Given the description of an element on the screen output the (x, y) to click on. 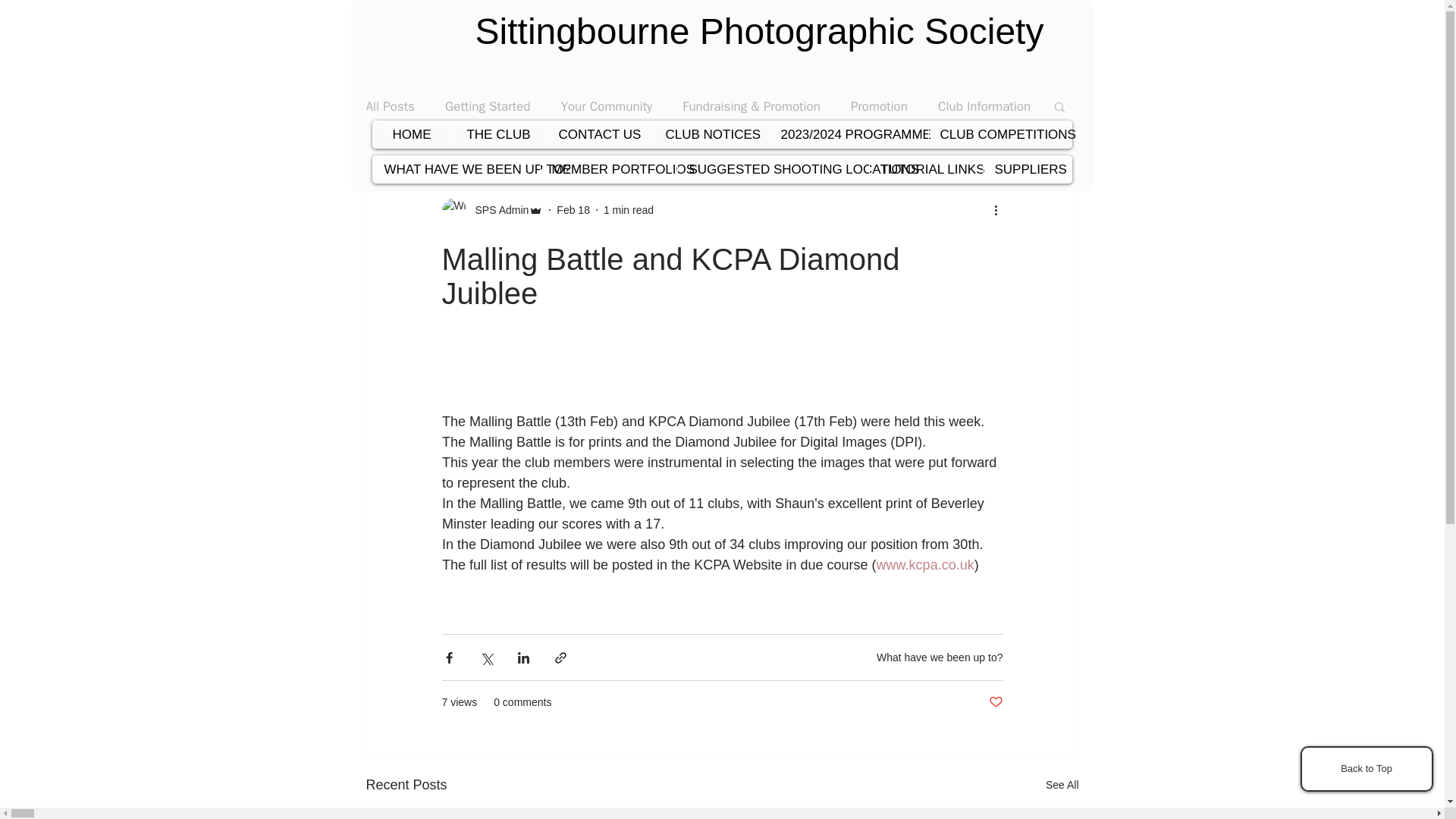
SUPPLIERS (1026, 169)
Promotion (878, 105)
SPS Admin (492, 209)
www.kcpa.co.uk (925, 564)
SPS Admin (496, 209)
All Posts (389, 105)
WHAT HAVE WE BEEN UP TO? (456, 169)
Club Information (983, 105)
TUTORIAL LINKS (925, 169)
Post not marked as liked (995, 702)
What have we been up to? (939, 656)
Getting Started (487, 105)
Feb 18 (572, 209)
MEMBER PORTFOLIOS (608, 169)
See All (1061, 784)
